Given the description of an element on the screen output the (x, y) to click on. 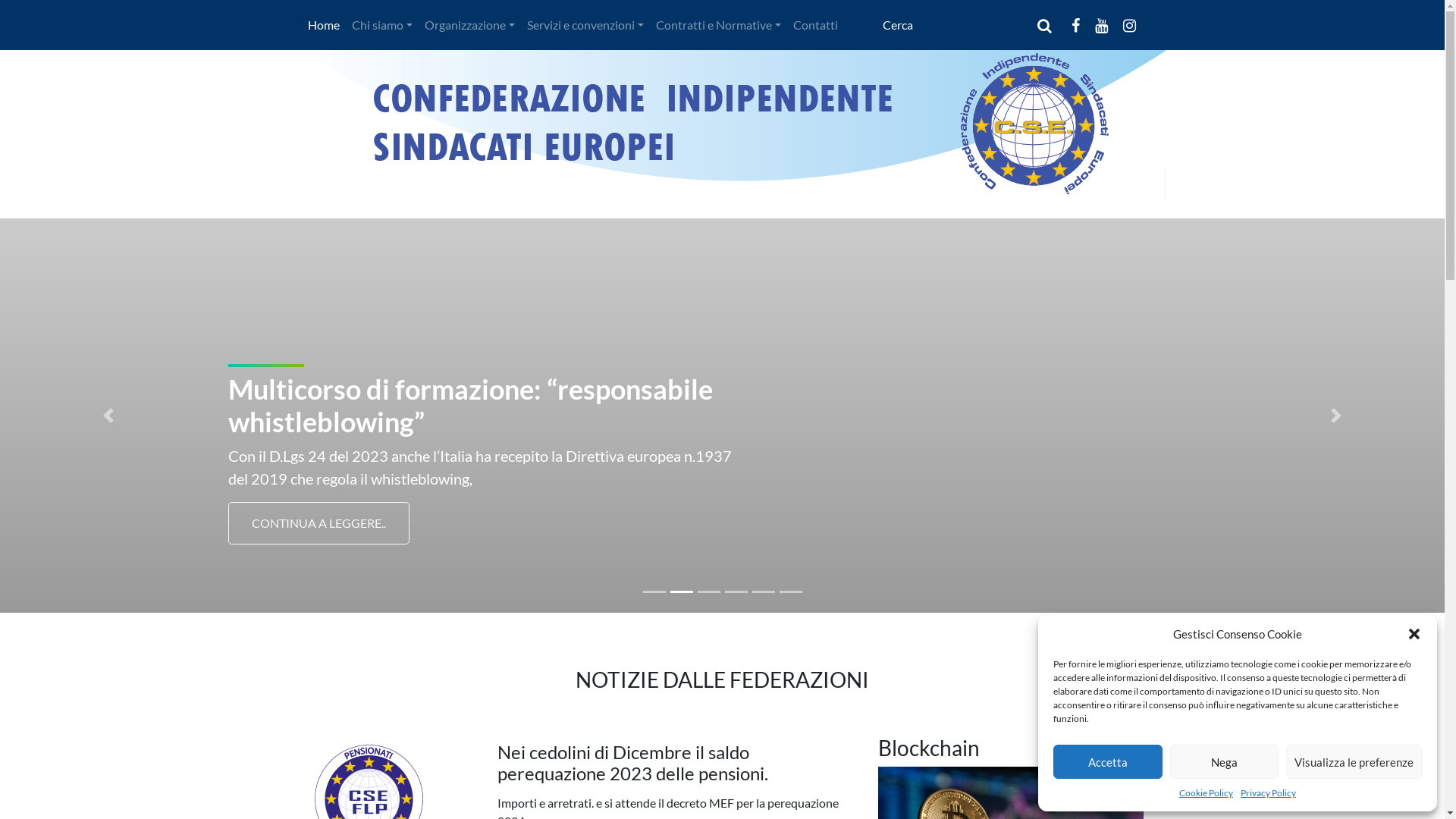
Visualizza le preferenze Element type: text (1353, 761)
Previous Element type: text (108, 415)
CONTINUA A LEGGERE.. Element type: text (318, 523)
Nega Element type: text (1223, 761)
Accetta Element type: text (1107, 761)
Home Element type: text (323, 24)
Organizzazione Element type: text (469, 24)
Contatti Element type: text (815, 24)
Next Element type: text (1335, 415)
Chi siamo Element type: text (381, 24)
Contratti e Normative Element type: text (718, 24)
Servizi e convenzioni Element type: text (584, 24)
Cookie Policy Element type: text (1206, 793)
Privacy Policy Element type: text (1267, 793)
